Given the description of an element on the screen output the (x, y) to click on. 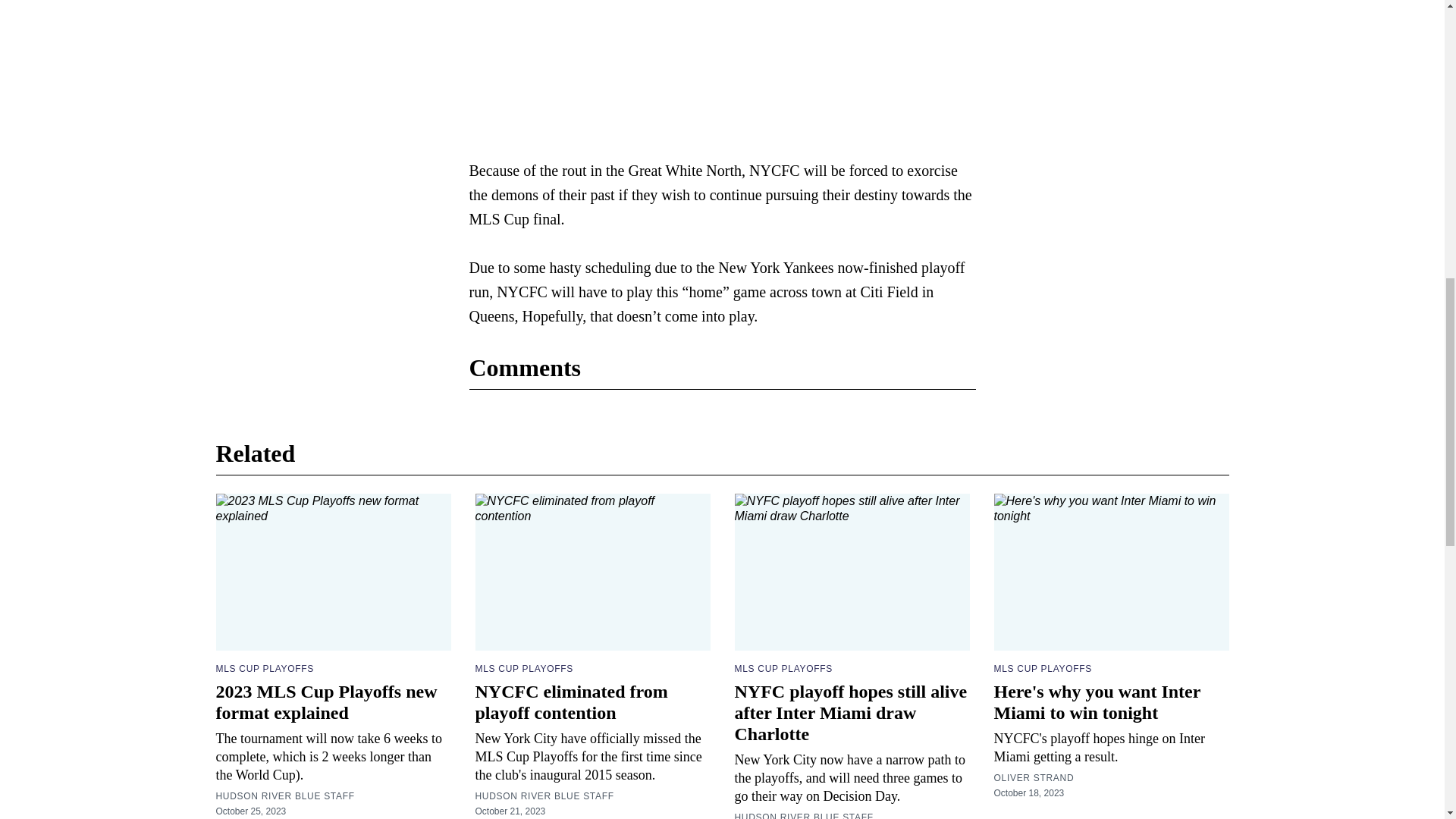
NYCFC eliminated from playoff contention (570, 701)
MLS CUP PLAYOFFS (264, 668)
HUDSON RIVER BLUE STAFF (543, 796)
MLS CUP PLAYOFFS (523, 668)
2023 MLS Cup Playoffs new format explained (325, 701)
HUDSON RIVER BLUE STAFF (284, 796)
MLS CUP PLAYOFFS (782, 668)
